Given the description of an element on the screen output the (x, y) to click on. 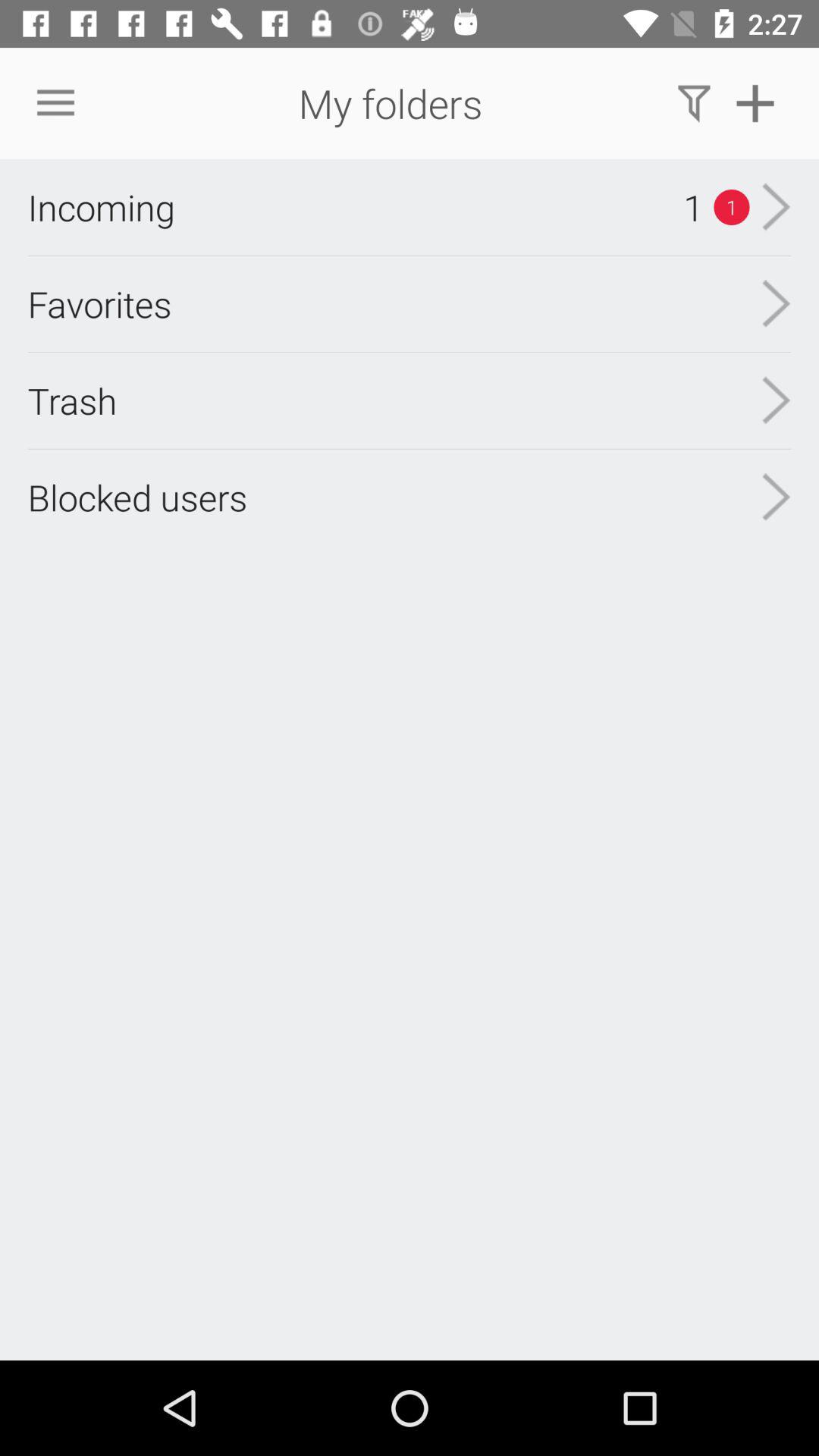
press the item above the incoming item (55, 103)
